Given the description of an element on the screen output the (x, y) to click on. 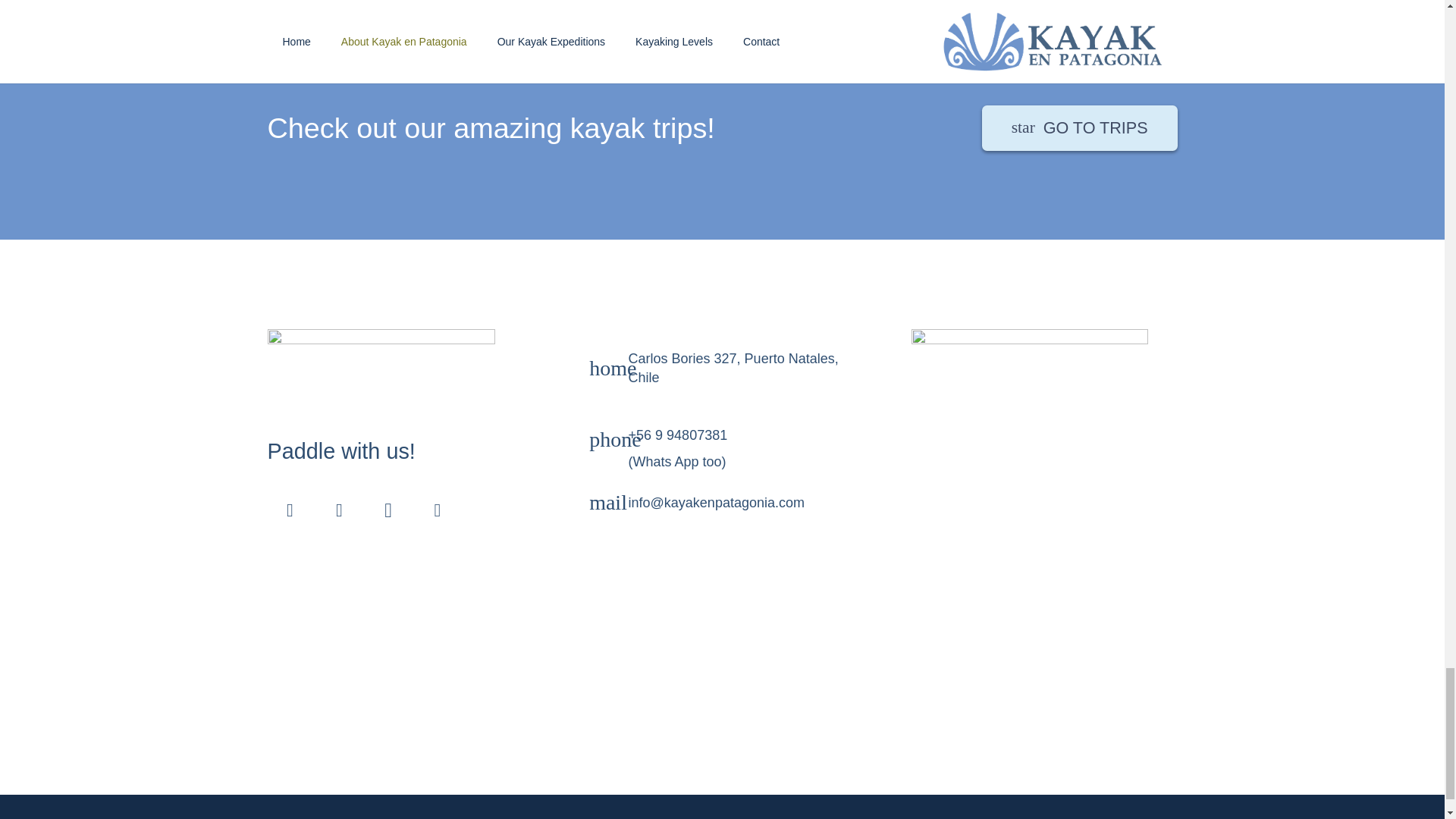
Tripadvisor (338, 510)
Facebook (289, 510)
starGO TO TRIPS (1079, 127)
Instagram (387, 510)
WhatsApp (437, 510)
Our Trips (1079, 127)
